Given the description of an element on the screen output the (x, y) to click on. 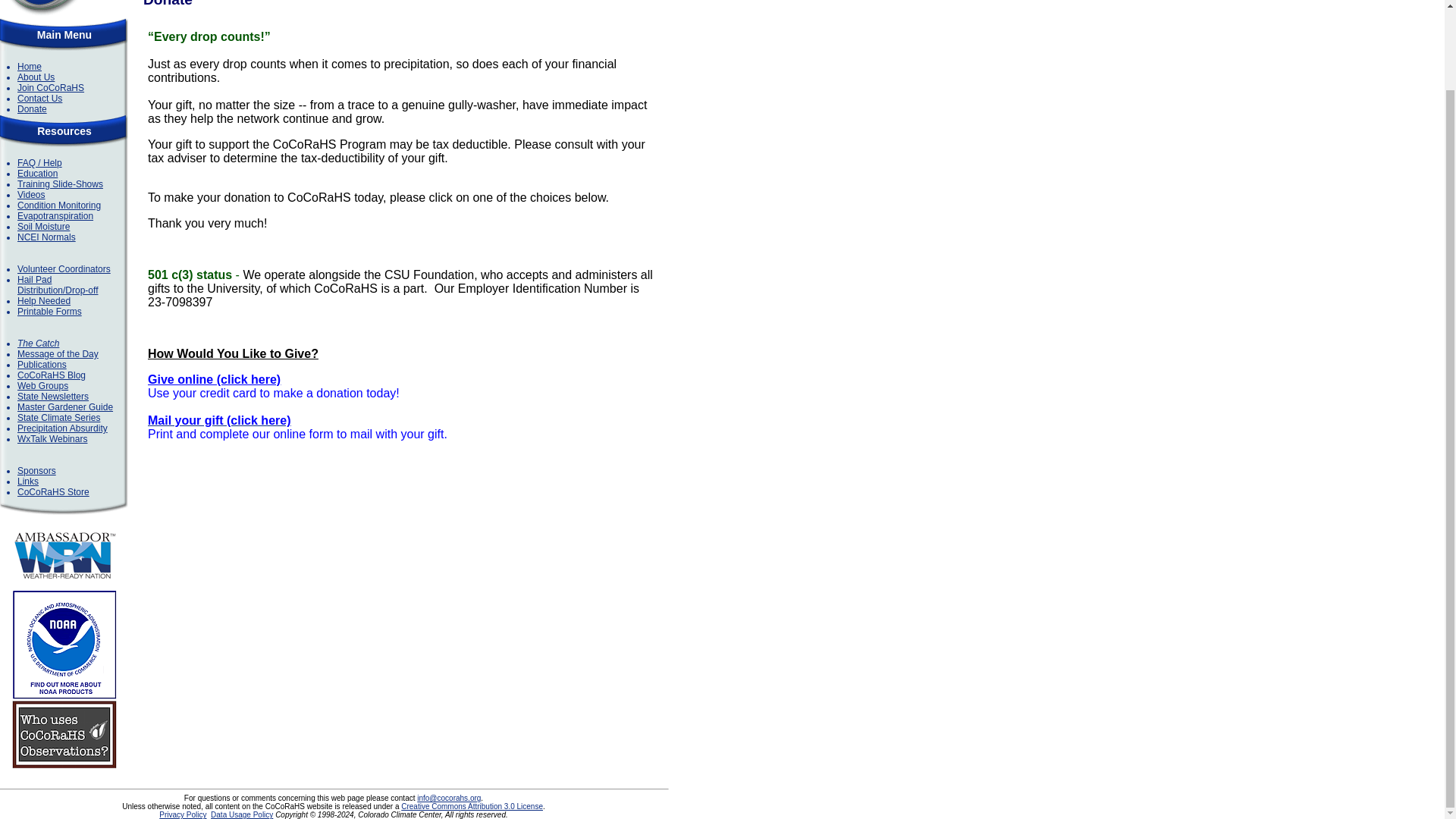
Home (29, 66)
Help Needed (43, 300)
Training Slide-Shows (60, 184)
NCEI Normals (46, 236)
Evapotranspiration (55, 215)
Videos (31, 194)
Volunteer Coordinators (63, 268)
Message of the Day (58, 353)
Condition Monitoring (58, 204)
Master Gardener Guide (65, 407)
Donate (31, 109)
State Newsletters (52, 396)
WxTalk Webinars (52, 439)
Printable Forms (49, 311)
CoCoRaHS Blog (51, 375)
